Given the description of an element on the screen output the (x, y) to click on. 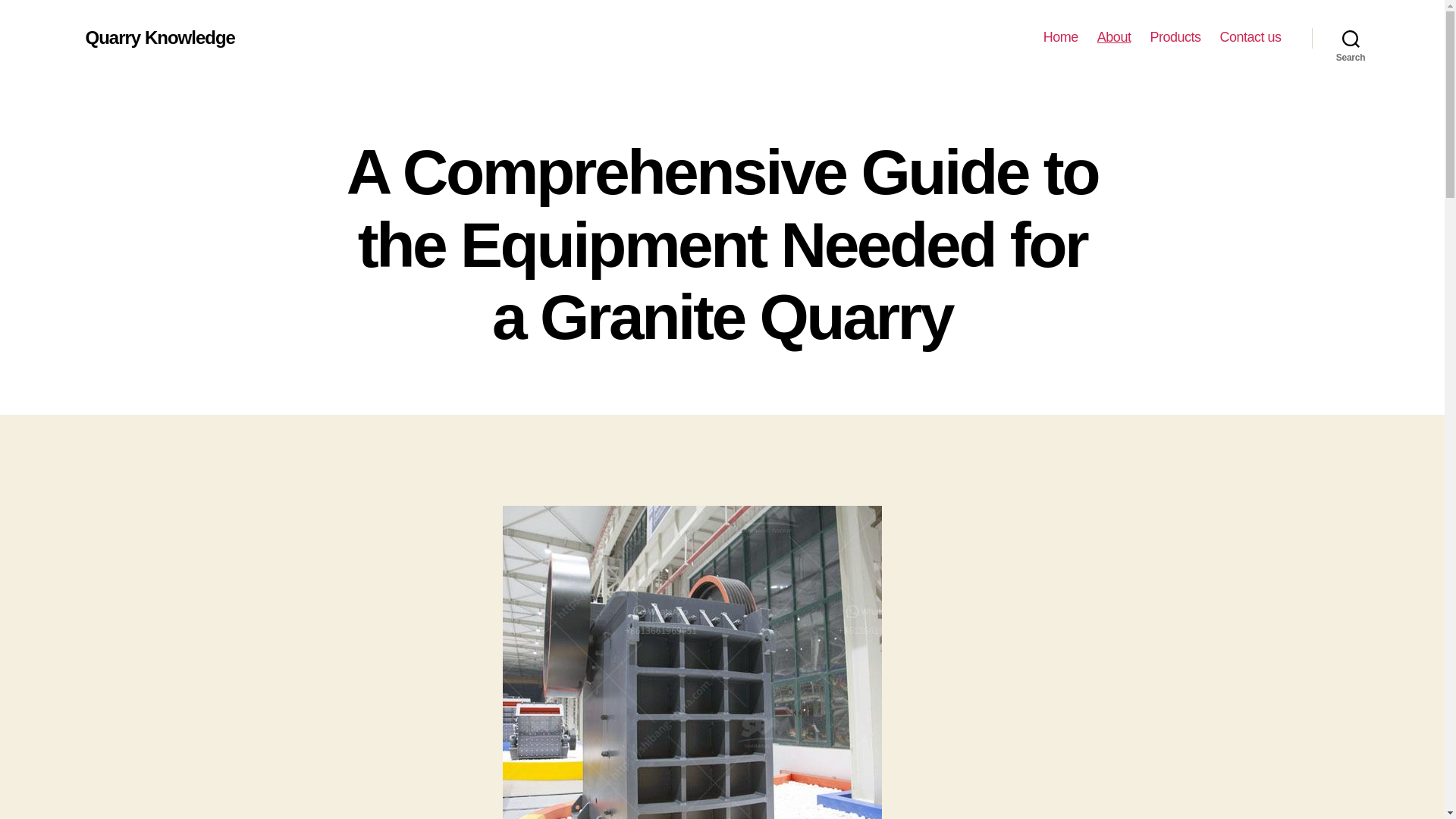
Contact us (1250, 37)
Quarry Knowledge (159, 37)
Search (1350, 37)
Home (1060, 37)
About (1114, 37)
Products (1174, 37)
